Given the description of an element on the screen output the (x, y) to click on. 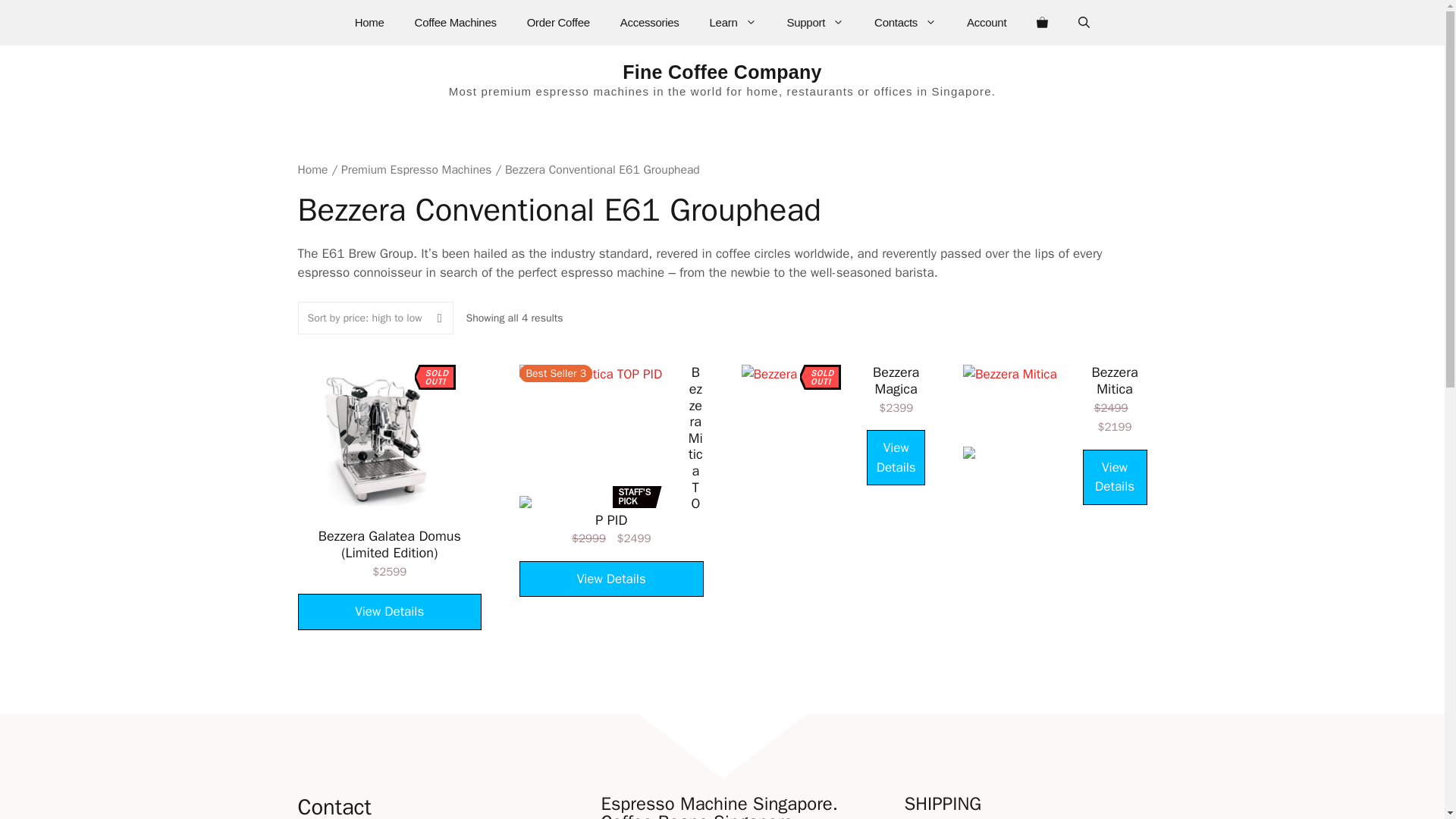
Bezzera Magica (791, 414)
Bezzera Mitica TOP PID (590, 435)
Accessories (649, 22)
Support (815, 22)
View Details (1115, 477)
Home (368, 22)
Premium Espresso Machines (416, 169)
Home (312, 169)
View your shopping cart (1042, 22)
Coffee Machines (455, 22)
